Given the description of an element on the screen output the (x, y) to click on. 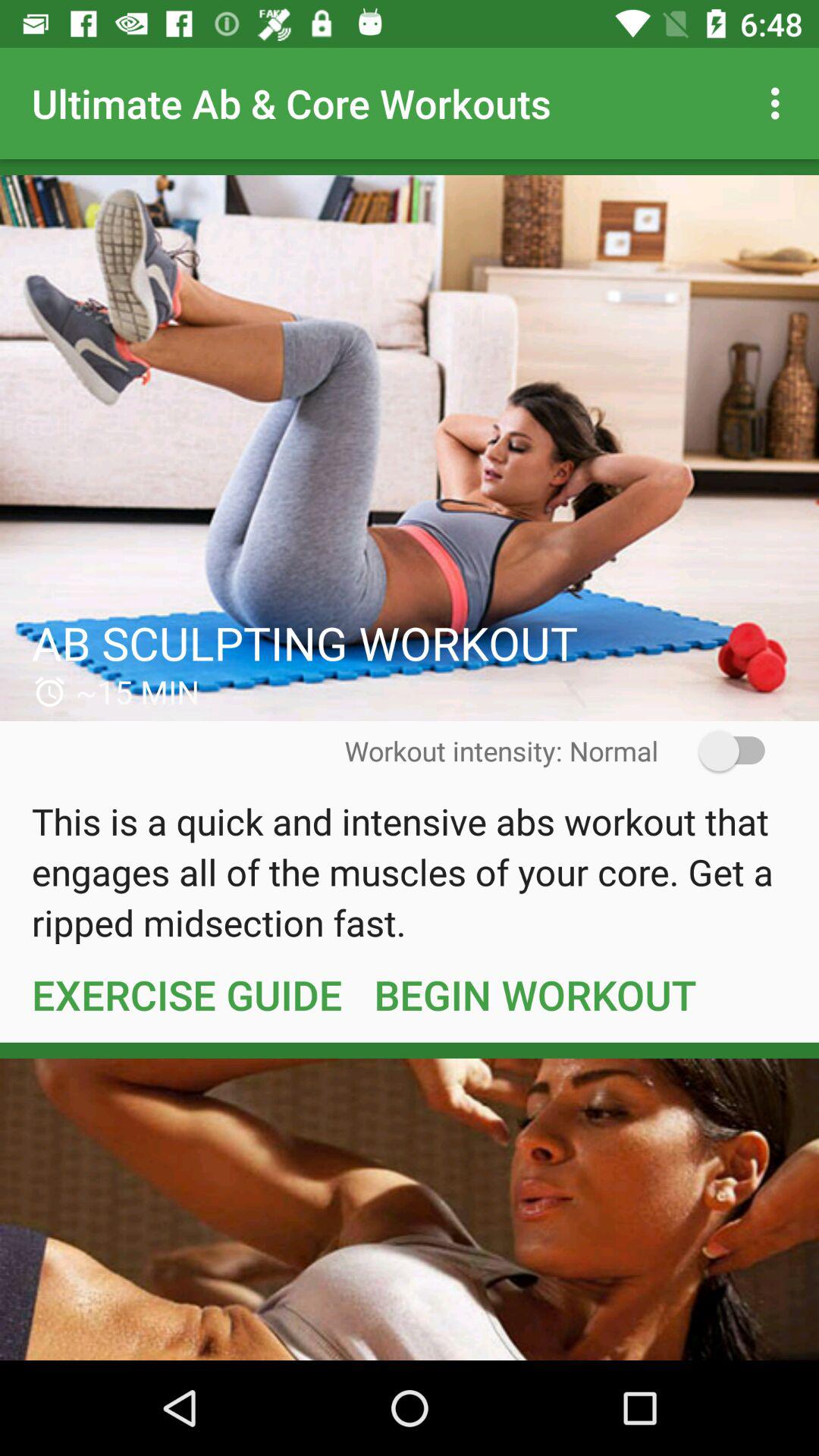
launch the icon to the right of workout intensity: normal icon (722, 750)
